Given the description of an element on the screen output the (x, y) to click on. 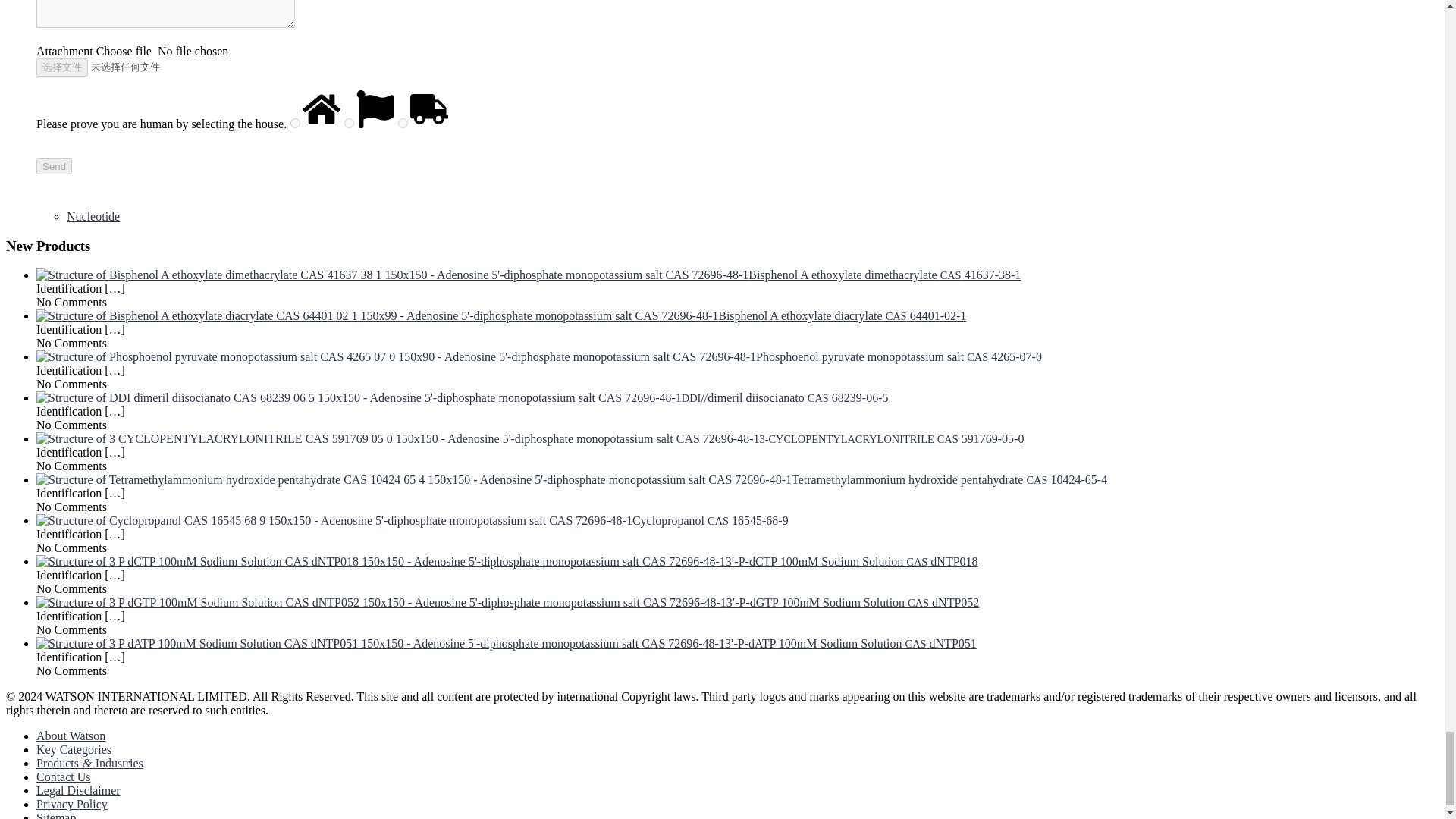
Send (53, 166)
bot (348, 122)
bot (402, 122)
